Given the description of an element on the screen output the (x, y) to click on. 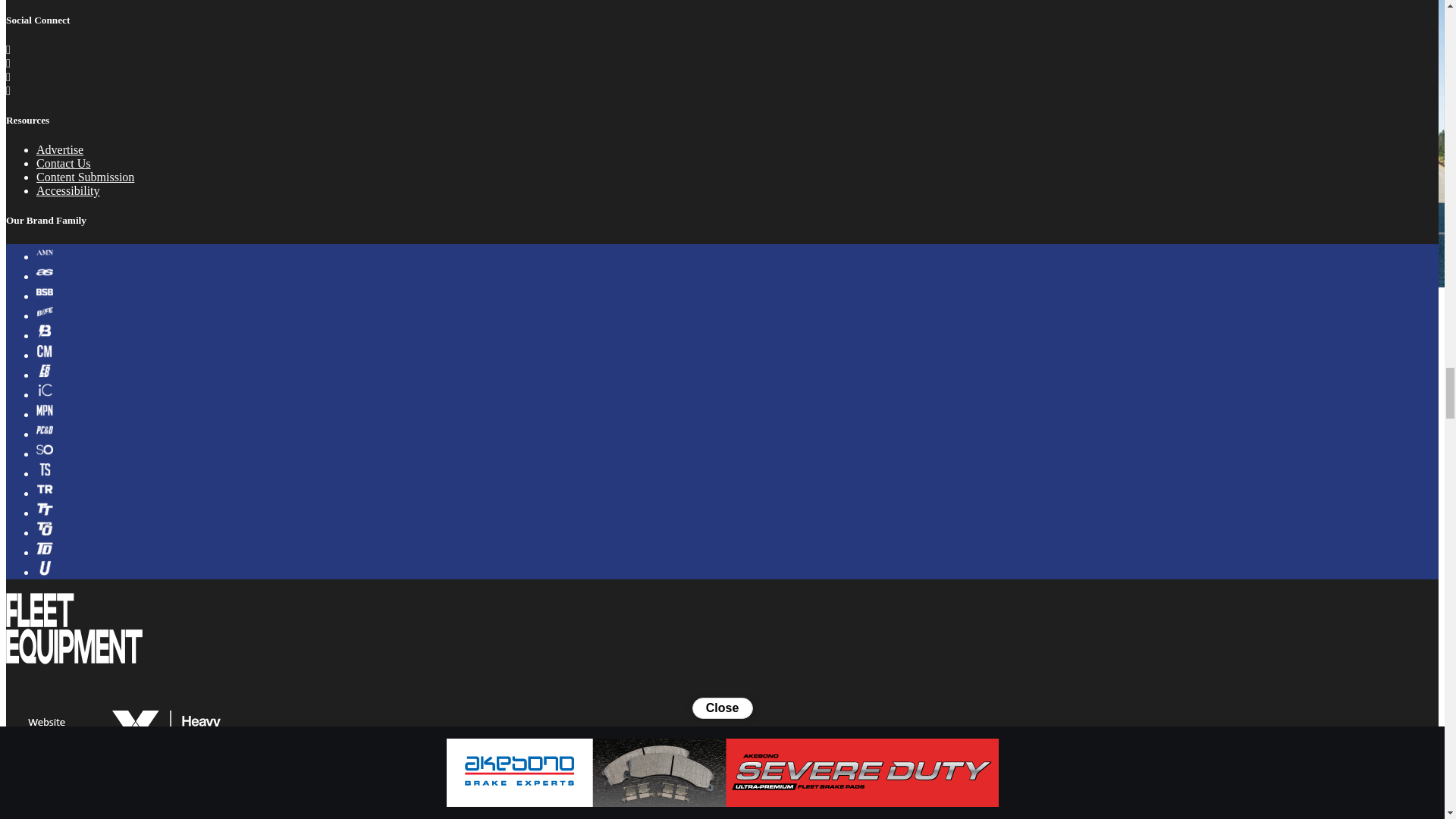
Advertise (59, 149)
Contact Us (63, 163)
